Given the description of an element on the screen output the (x, y) to click on. 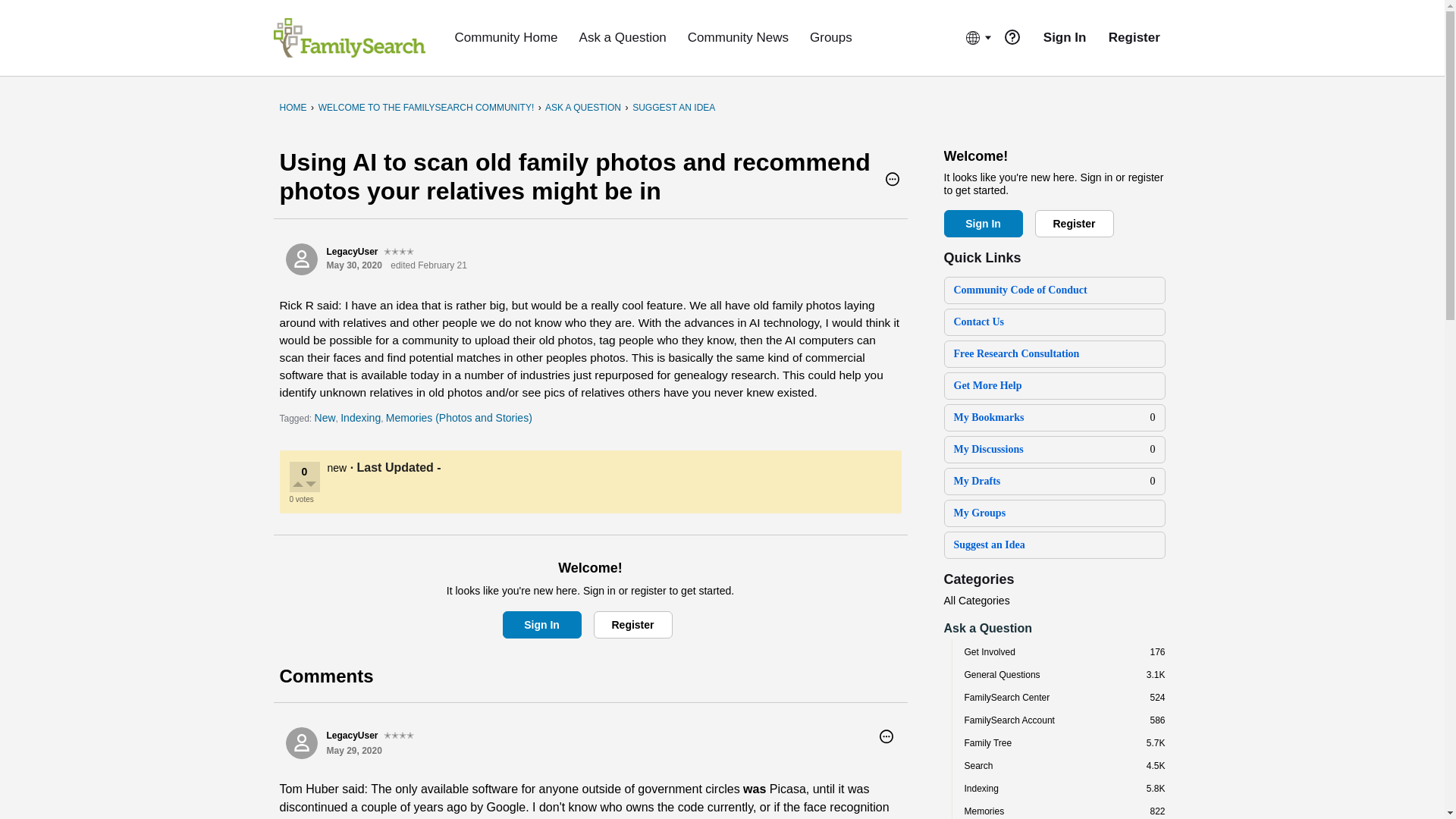
Down (310, 485)
Level 4 (398, 735)
notice-question (1012, 36)
Register (631, 624)
Edited February 21, 2024 5:15AM by Stephanie V.. (428, 265)
May 30, 2020 5:17AM (353, 265)
Sign In (541, 624)
LegacyUser (301, 743)
May 29, 2020 8:48PM (353, 750)
Level 4 (398, 251)
LegacyUser (301, 259)
Up (298, 485)
